Given the description of an element on the screen output the (x, y) to click on. 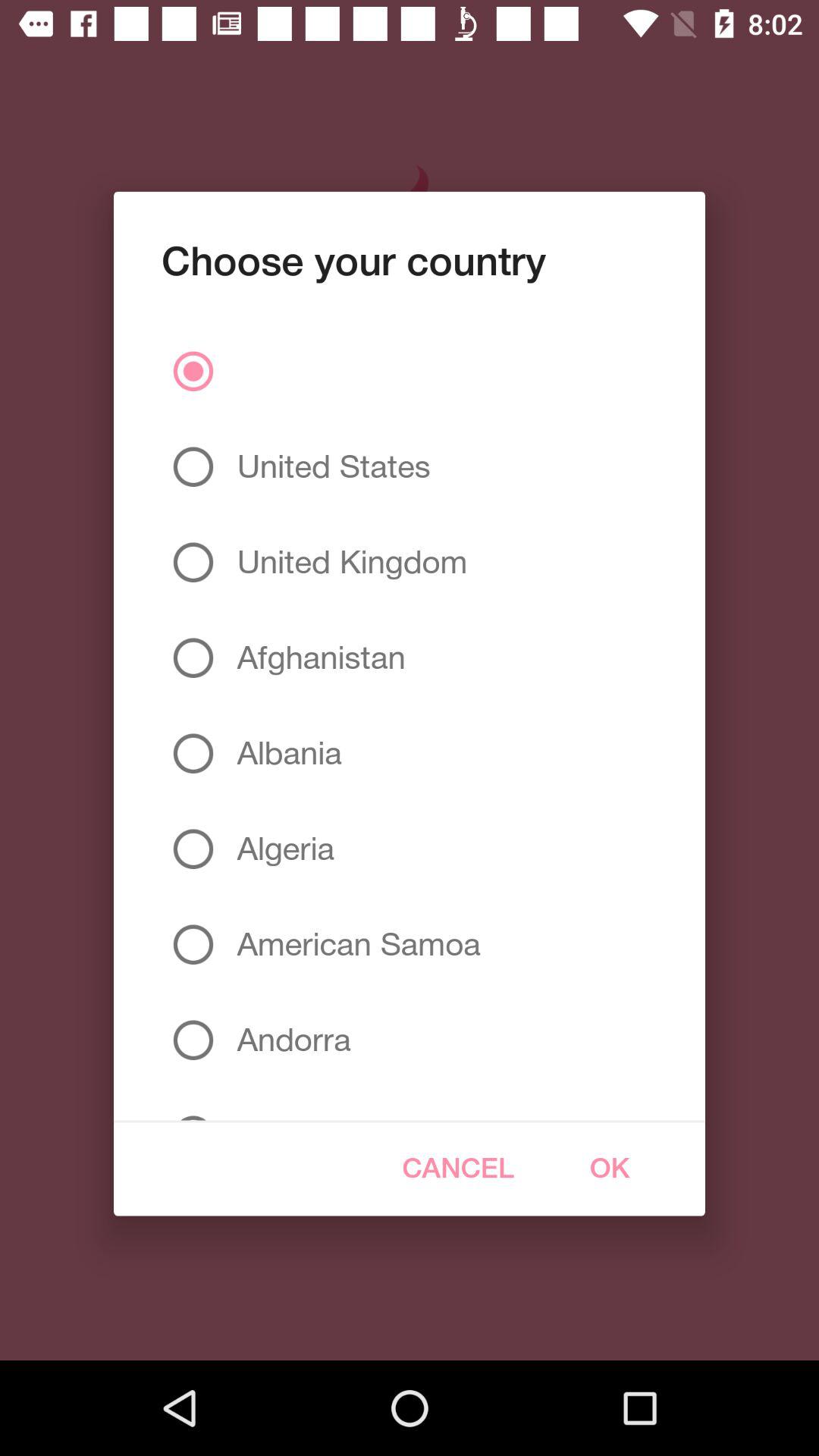
click the cancel (458, 1167)
